Given the description of an element on the screen output the (x, y) to click on. 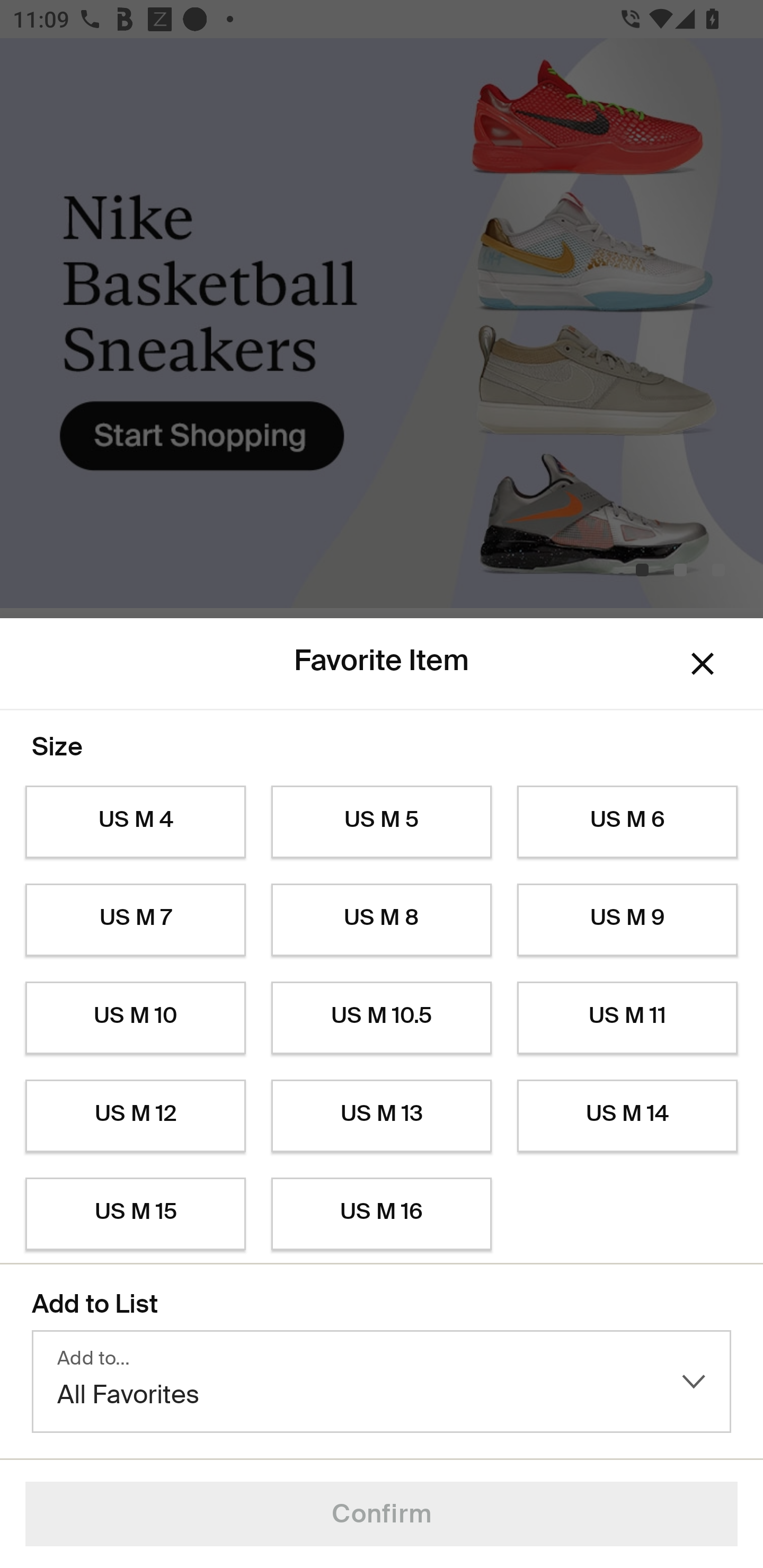
Dismiss (702, 663)
US M 4 (135, 822)
US M 5 (381, 822)
US M 6 (627, 822)
US M 7 (135, 919)
US M 8 (381, 919)
US M 9 (627, 919)
US M 10 (135, 1018)
US M 10.5 (381, 1018)
US M 11 (627, 1018)
US M 12 (135, 1116)
US M 13 (381, 1116)
US M 14 (627, 1116)
US M 15 (135, 1214)
US M 16 (381, 1214)
Add to… All Favorites (381, 1381)
Confirm (381, 1513)
